Given the description of an element on the screen output the (x, y) to click on. 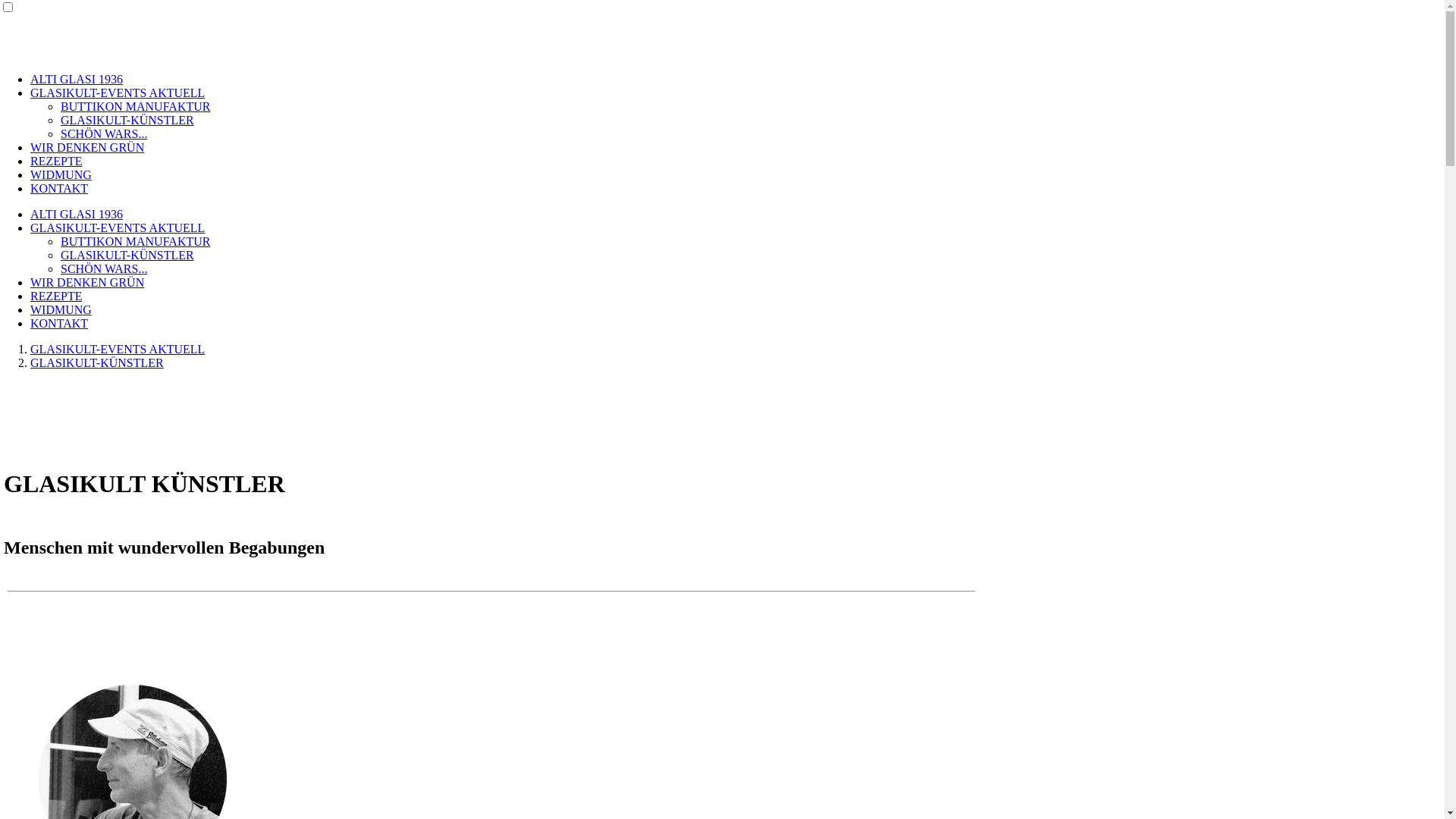
KONTAKT Element type: text (58, 188)
REZEPTE Element type: text (55, 295)
WIDMUNG Element type: text (60, 309)
KONTAKT Element type: text (58, 322)
BUTTIKON MANUFAKTUR Element type: text (135, 241)
ALTI GLASI 1936 Element type: text (76, 213)
GLASIKULT-EVENTS AKTUELL Element type: text (117, 227)
GLASIKULT-EVENTS AKTUELL Element type: text (117, 92)
REZEPTE Element type: text (55, 160)
BUTTIKON MANUFAKTUR Element type: text (135, 106)
GLASIKULT-EVENTS AKTUELL Element type: text (117, 348)
ALTI GLASI 1936 Element type: text (76, 78)
WIDMUNG Element type: text (60, 174)
